Given the description of an element on the screen output the (x, y) to click on. 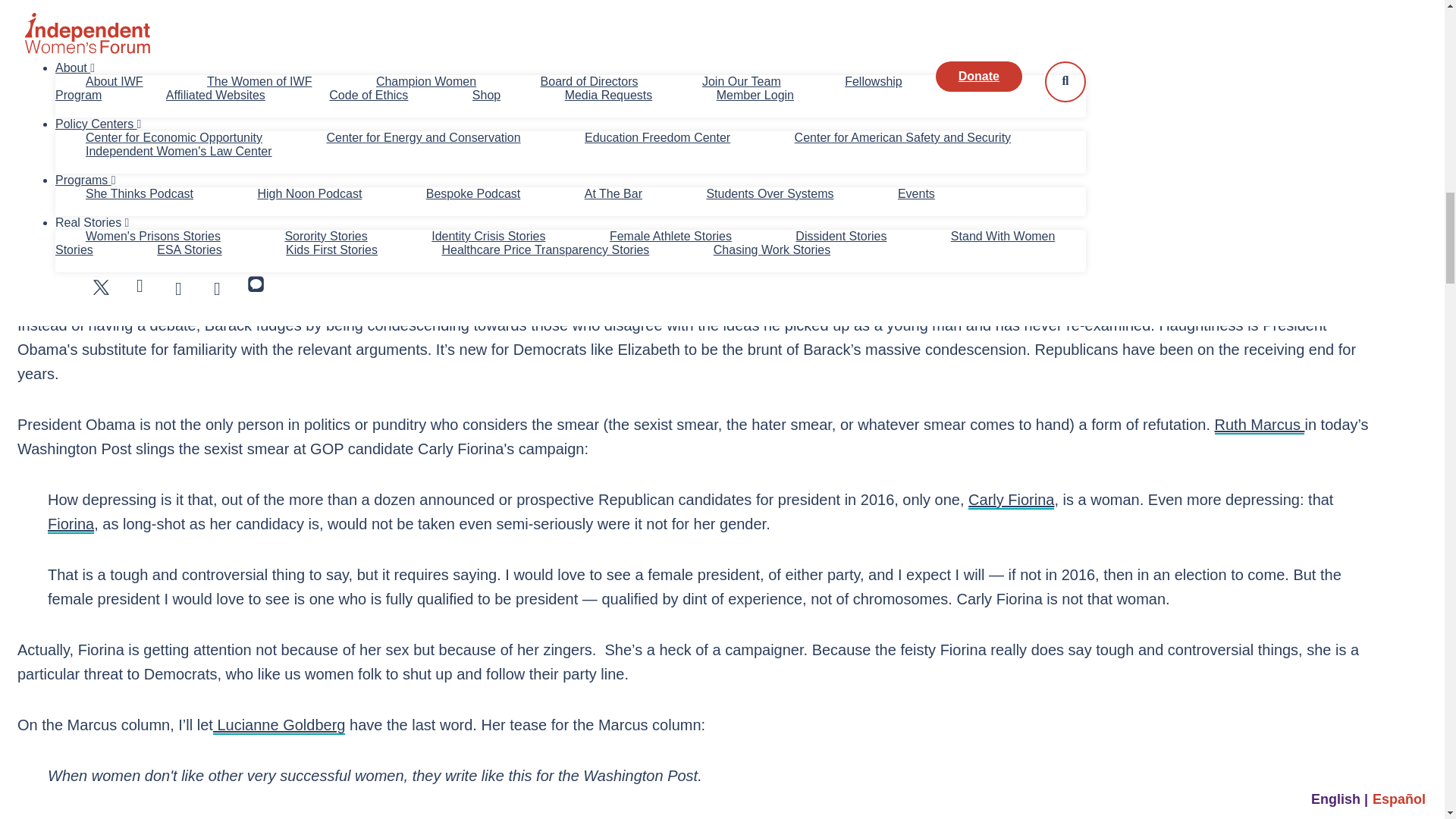
www.washingtonpost.com (1011, 500)
www.washingtonpost.com (71, 524)
